Given the description of an element on the screen output the (x, y) to click on. 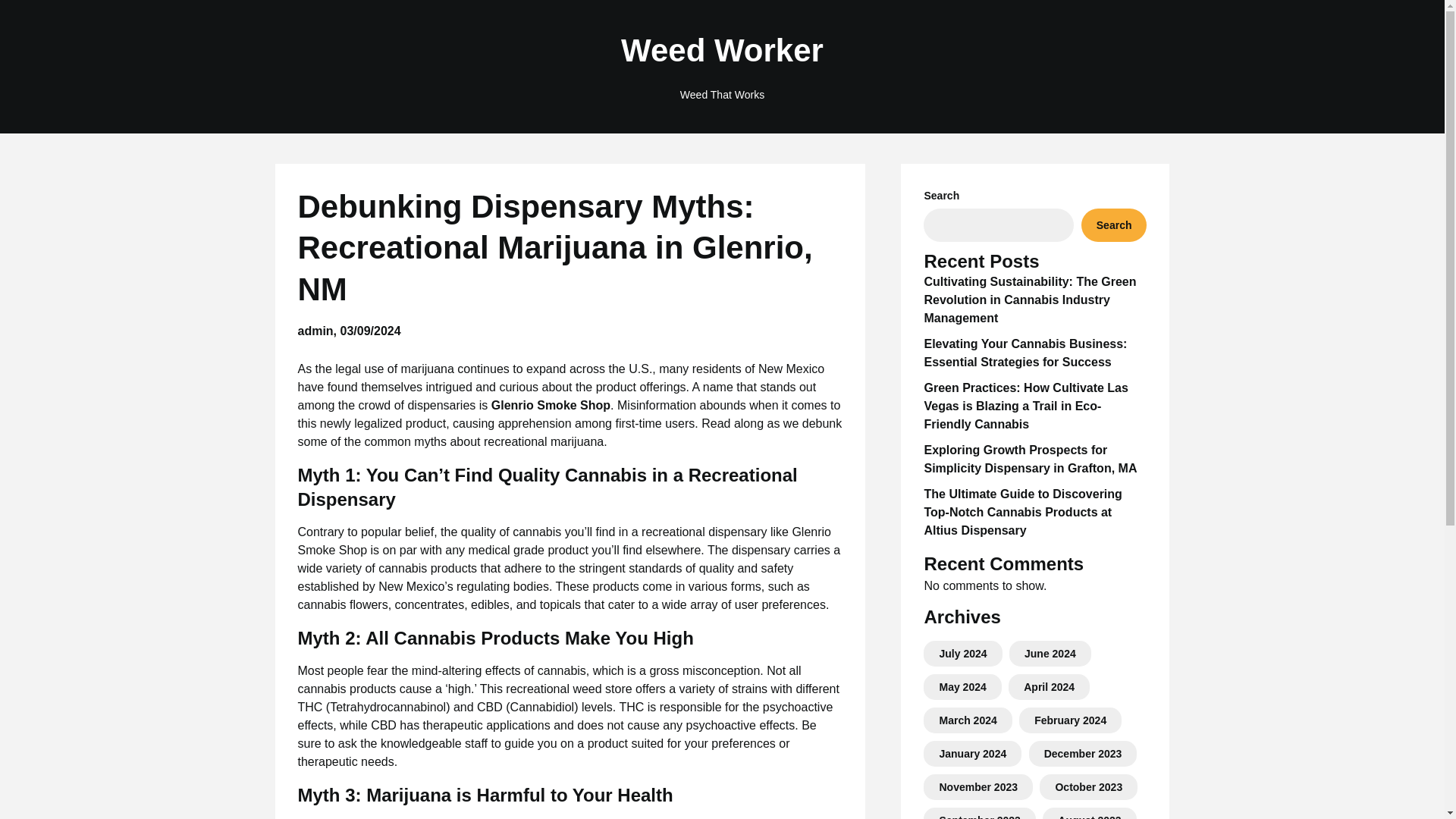
June 2024 (1050, 653)
Weed Worker (722, 51)
August 2023 (1089, 816)
November 2023 (978, 787)
April 2024 (1048, 686)
February 2024 (1069, 720)
January 2024 (972, 753)
May 2024 (962, 686)
October 2023 (1088, 787)
Search (1114, 224)
July 2024 (963, 653)
